Given the description of an element on the screen output the (x, y) to click on. 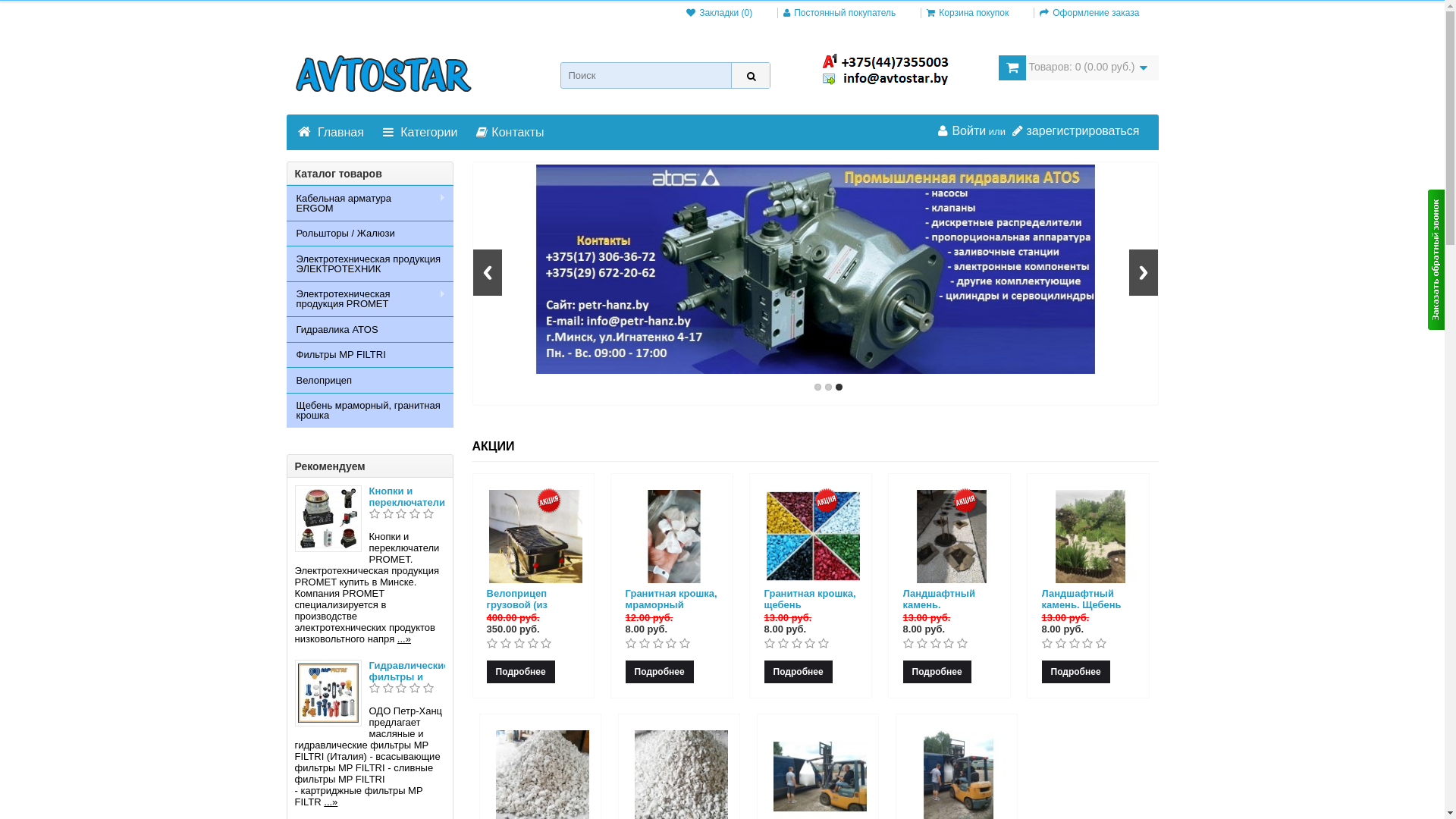
1 Element type: text (817, 386)
Previous Element type: text (487, 272)
Next Element type: text (1142, 272)
3 Element type: text (838, 386)
2 Element type: text (828, 386)
Avtostar.by Element type: hover (384, 73)
